Given the description of an element on the screen output the (x, y) to click on. 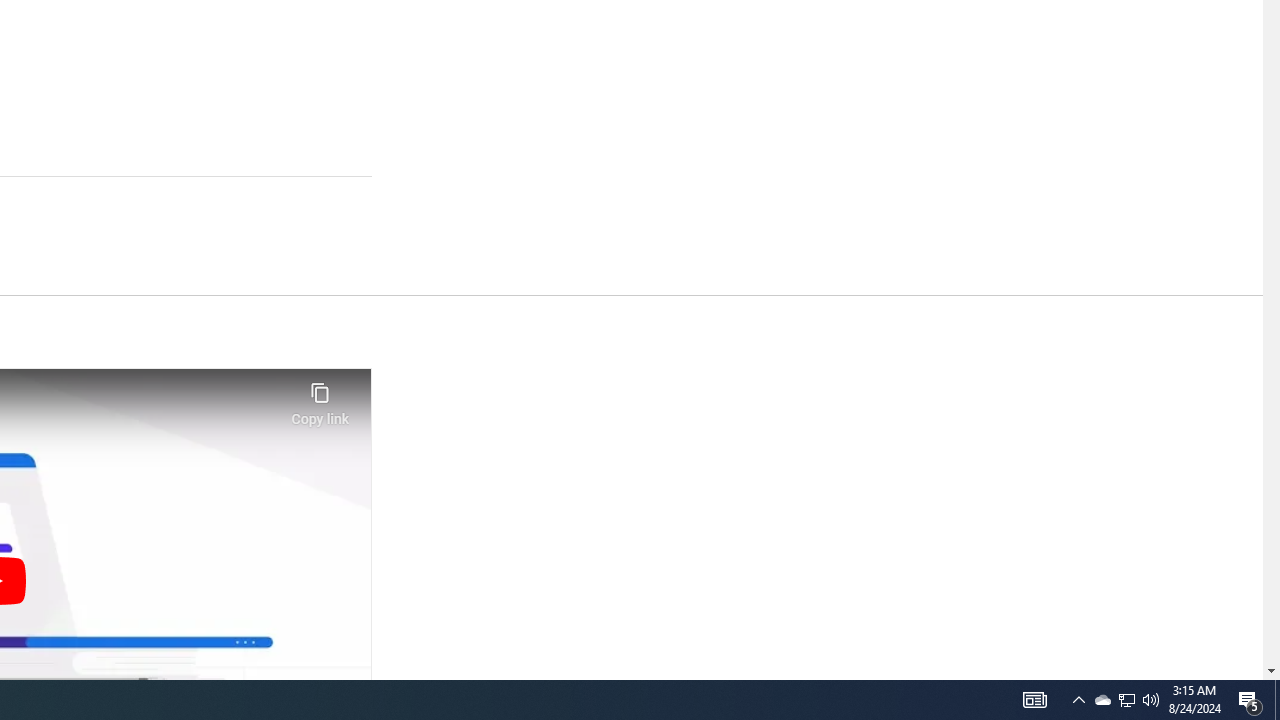
Copy link (319, 398)
